Given the description of an element on the screen output the (x, y) to click on. 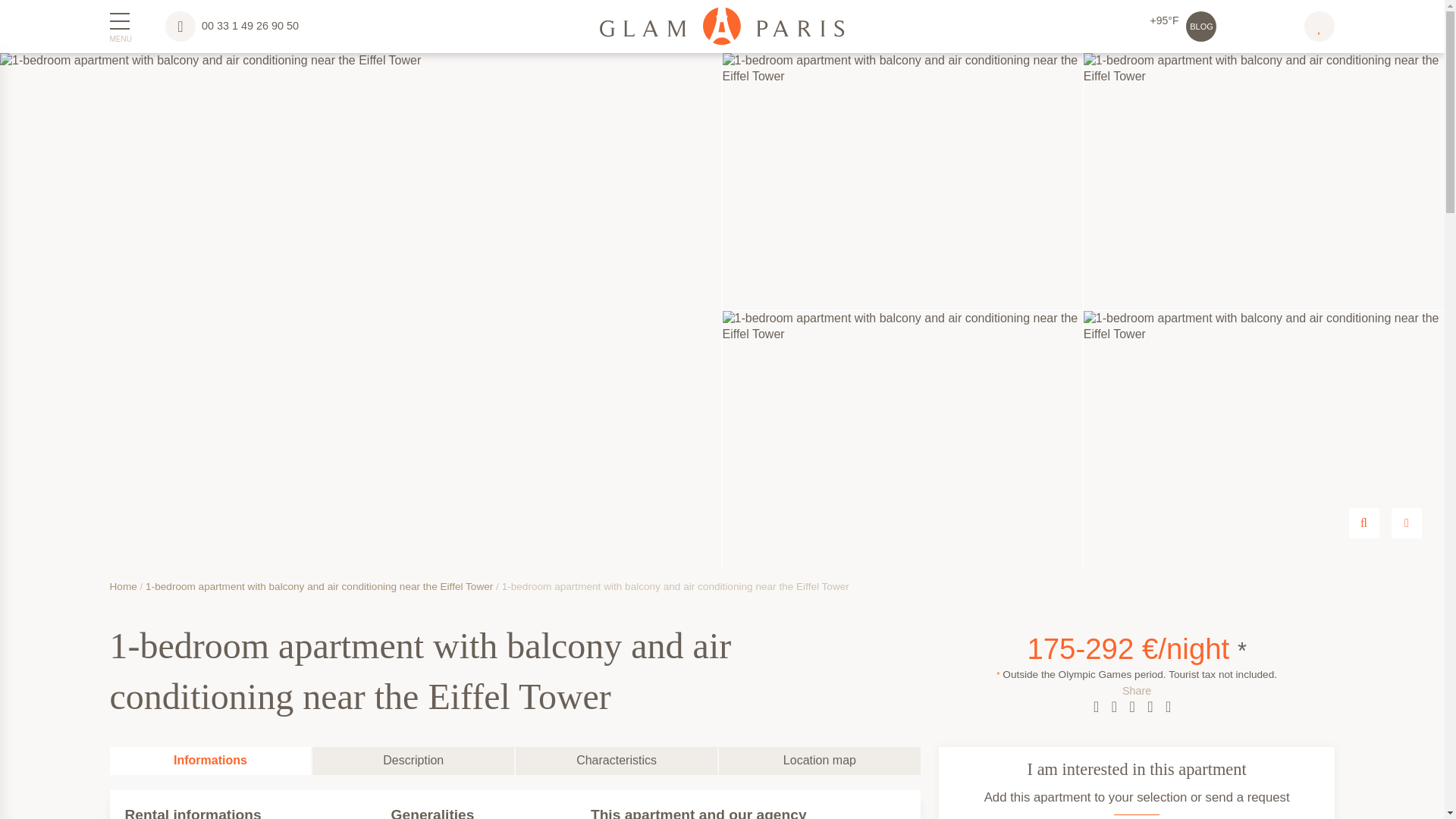
selection (1316, 25)
Home (122, 586)
BLOG (1200, 26)
Send a request (1406, 522)
Description (413, 760)
Location map (819, 760)
Characteristics (616, 760)
See all photos (1363, 522)
00 33 1 49 26 90 50 (231, 25)
